Given the description of an element on the screen output the (x, y) to click on. 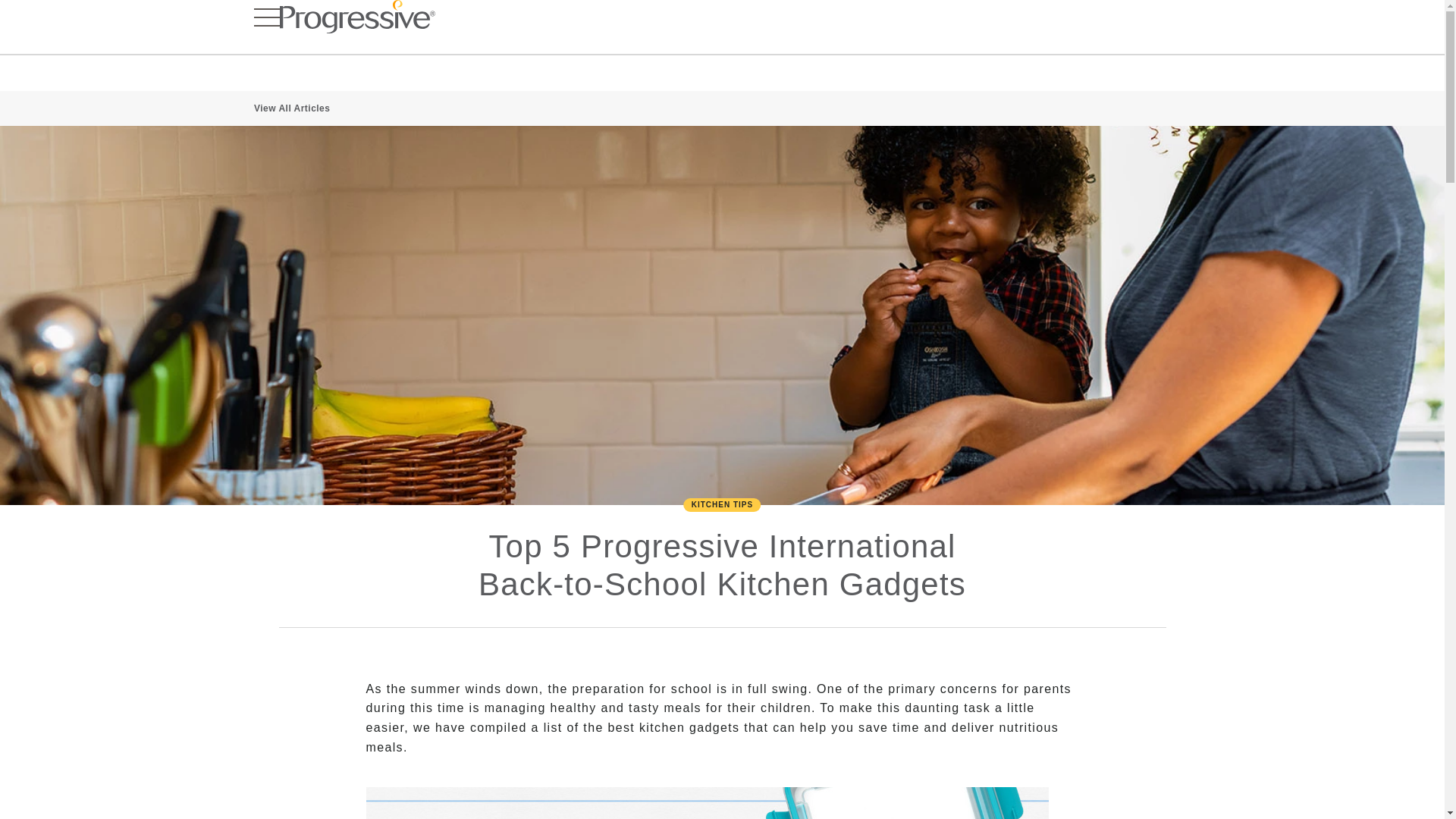
View All Articles (291, 108)
